Given the description of an element on the screen output the (x, y) to click on. 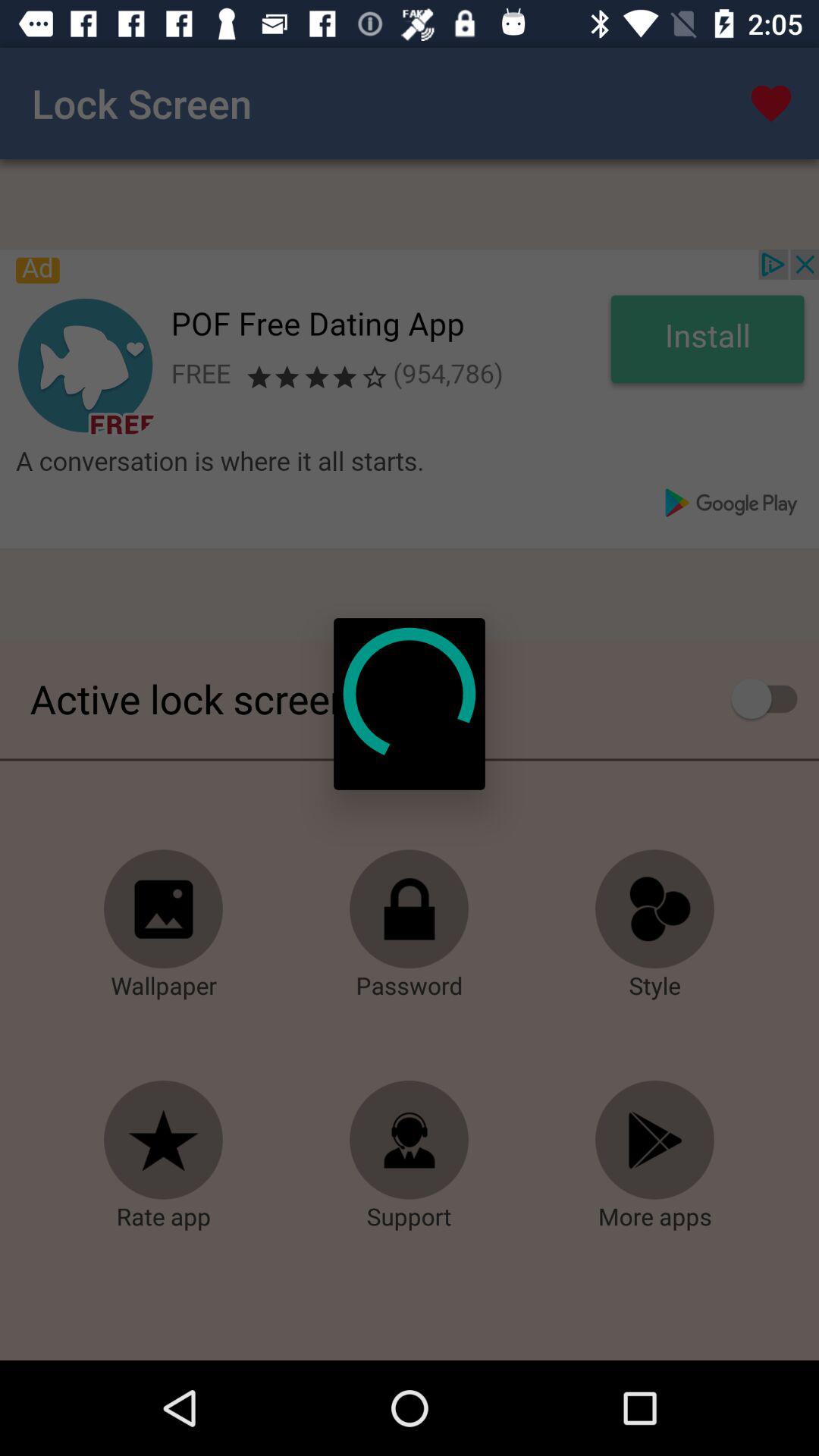
open wallpaper (163, 909)
